Given the description of an element on the screen output the (x, y) to click on. 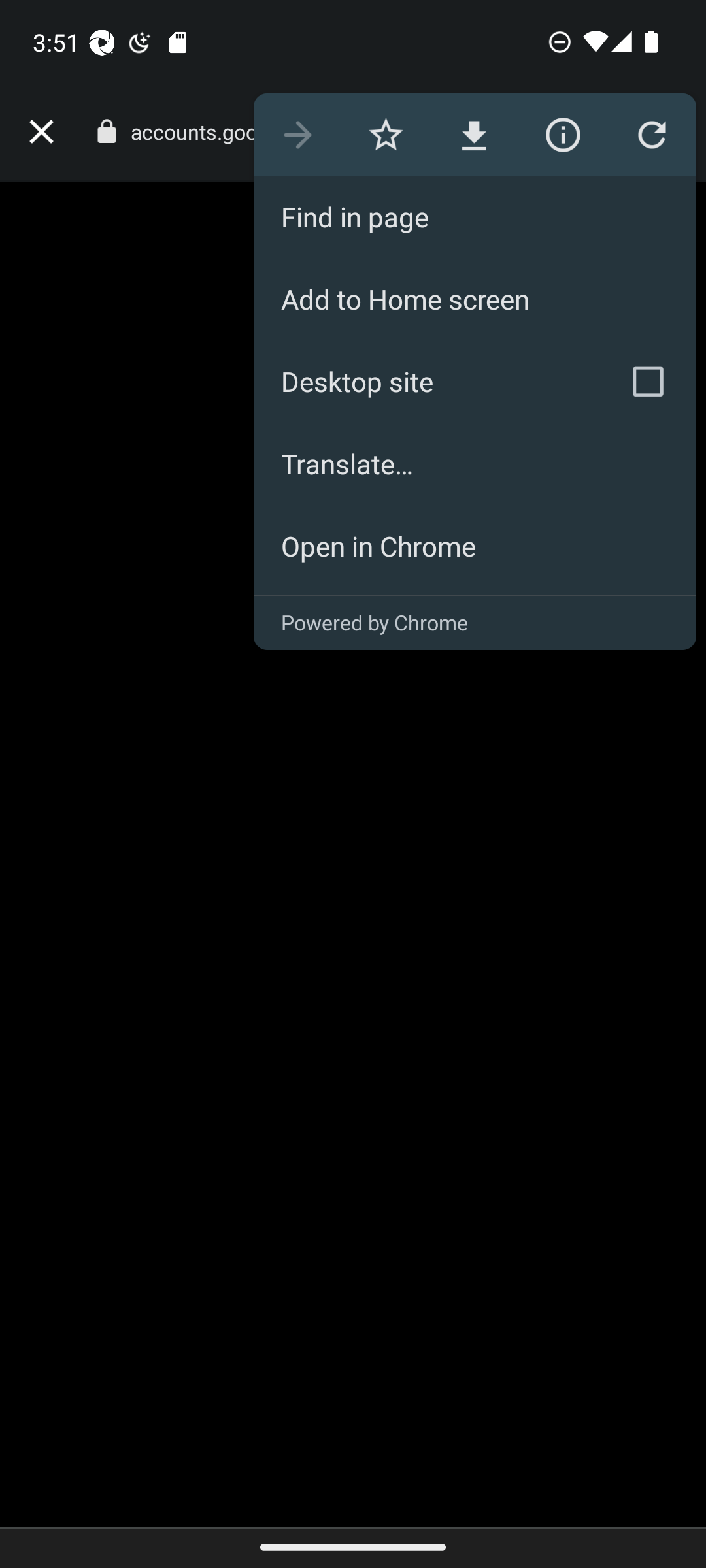
Go forward (297, 134)
Bookmark (385, 134)
Download page (473, 134)
View site information (562, 134)
Refresh (651, 134)
Find in page (474, 216)
Add to Home screen (474, 299)
Desktop site Turn on Request desktop site (426, 381)
Translate… (474, 463)
Open in Chrome (474, 546)
